Given the description of an element on the screen output the (x, y) to click on. 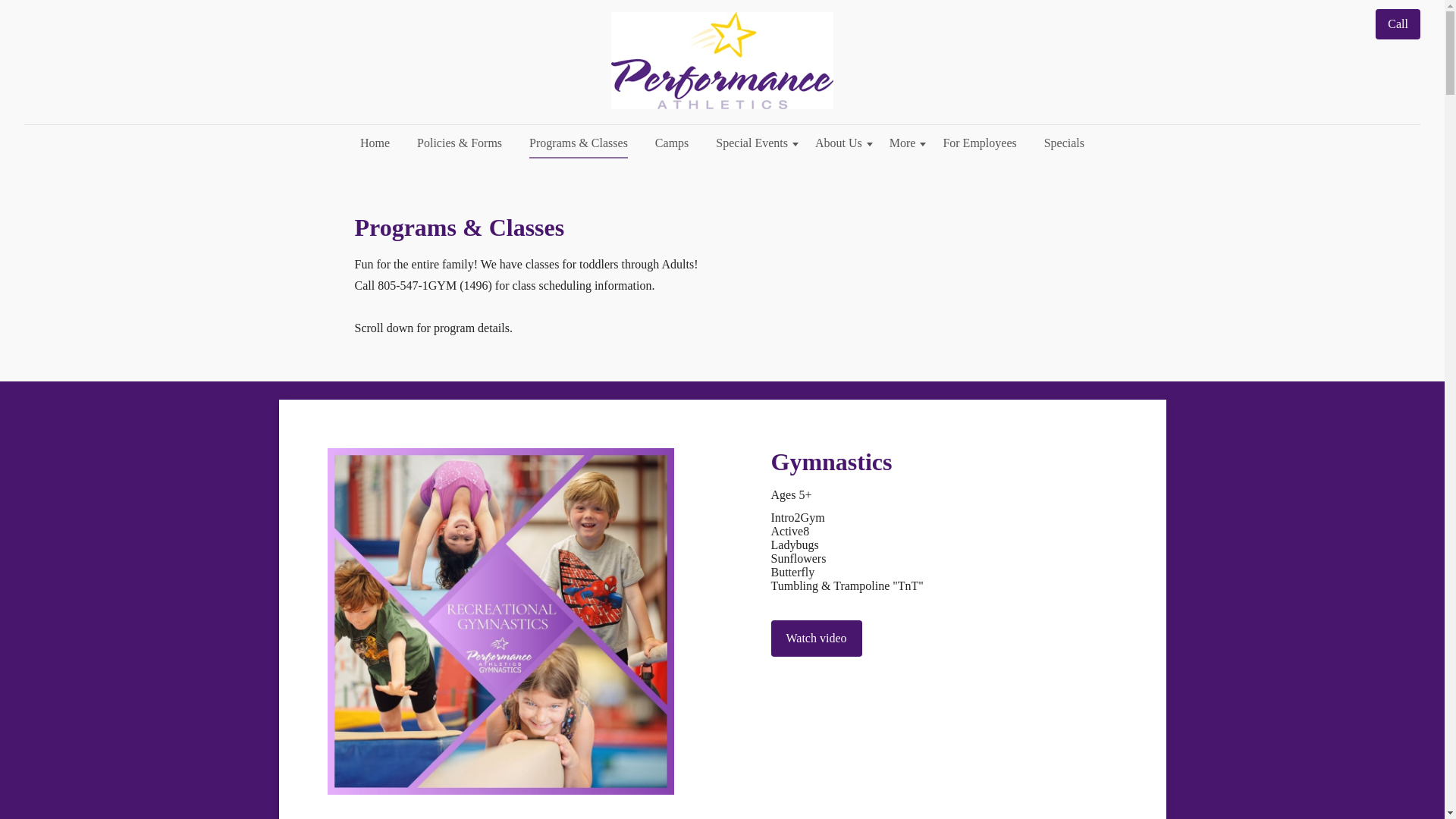
Home (374, 142)
About Us (839, 142)
Watch video (815, 637)
Call (1398, 24)
More (902, 142)
Special Events (751, 142)
For Employees (978, 142)
Camps (671, 142)
Specials (1064, 142)
